Given the description of an element on the screen output the (x, y) to click on. 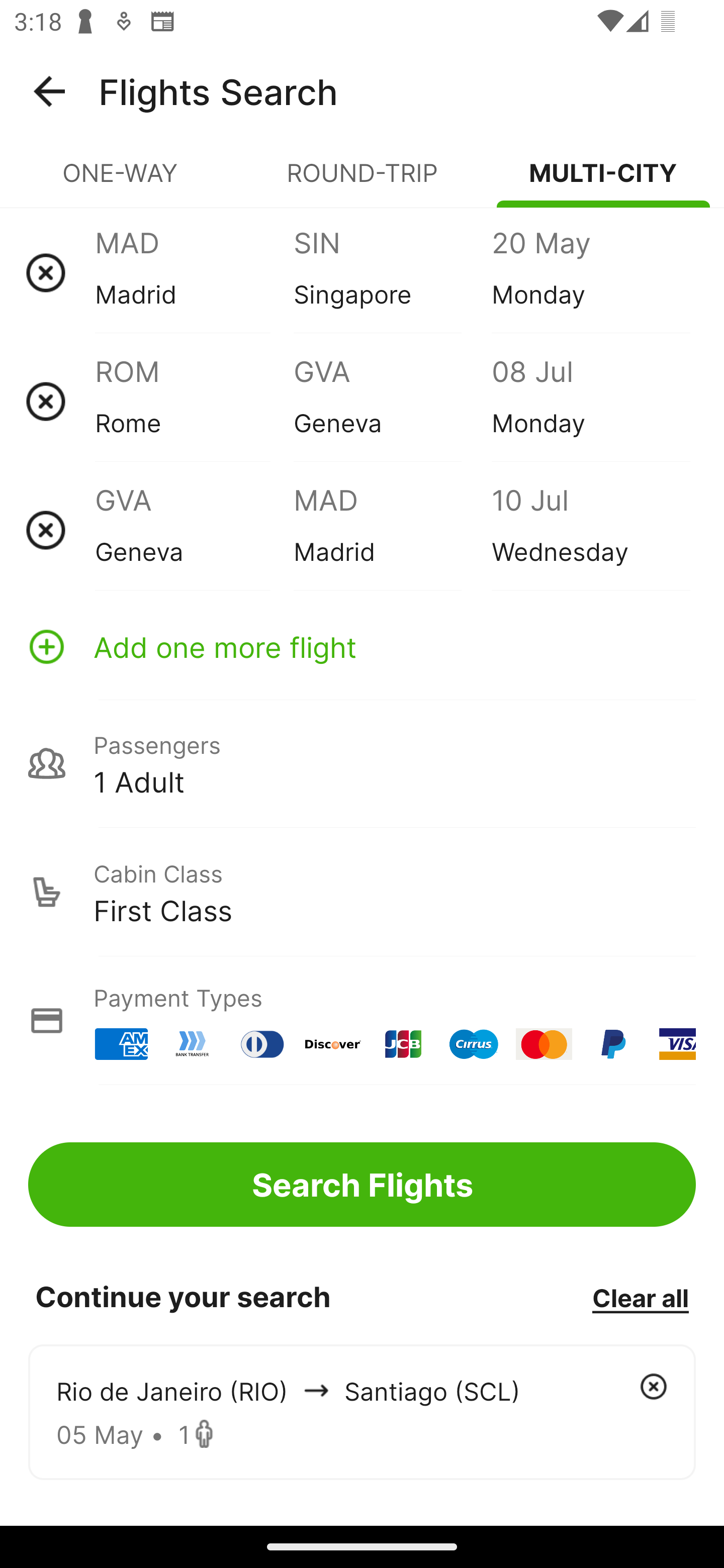
ONE-WAY (120, 180)
ROUND-TRIP (361, 180)
MULTI-CITY (603, 180)
MAD Madrid (193, 272)
SIN Singapore (392, 272)
20 May Monday (590, 272)
ROM Rome (193, 401)
GVA Geneva (392, 401)
08 Jul Monday (590, 401)
GVA Geneva (193, 529)
MAD Madrid (392, 529)
10 Jul Wednesday (590, 529)
Add one more flight (362, 646)
Passengers 1 Adult (362, 762)
Cabin Class First Class (362, 891)
Payment Types (362, 1020)
Search Flights (361, 1184)
Clear all (640, 1297)
